Given the description of an element on the screen output the (x, y) to click on. 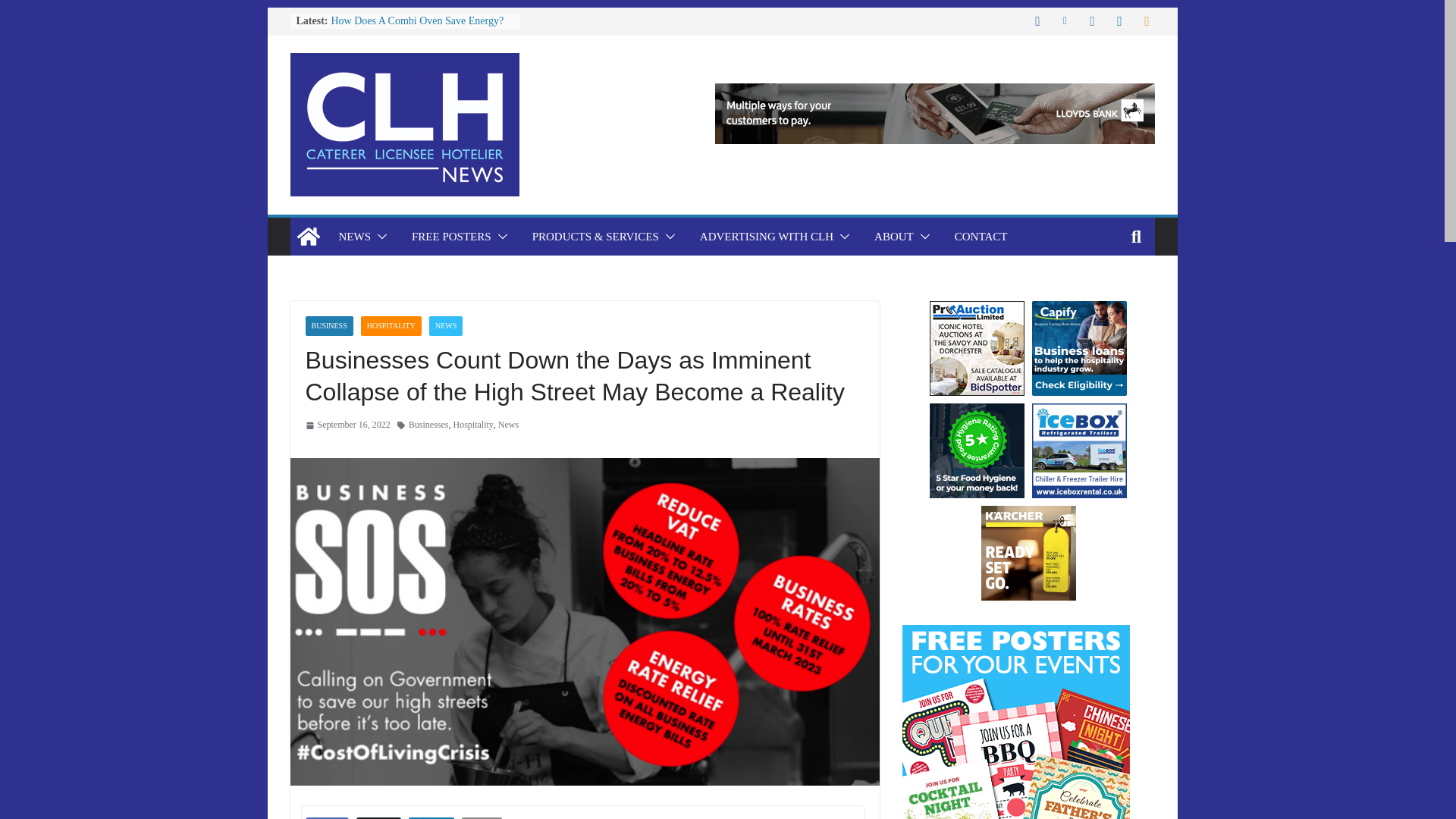
CLH News: Caterer, Licensee and Hotelier News (307, 236)
How Does A Combi Oven Save Energy? (416, 20)
FREE POSTERS (452, 236)
NEWS (354, 236)
10:20 am (347, 425)
How Does A Combi Oven Save Energy? (416, 20)
